Given the description of an element on the screen output the (x, y) to click on. 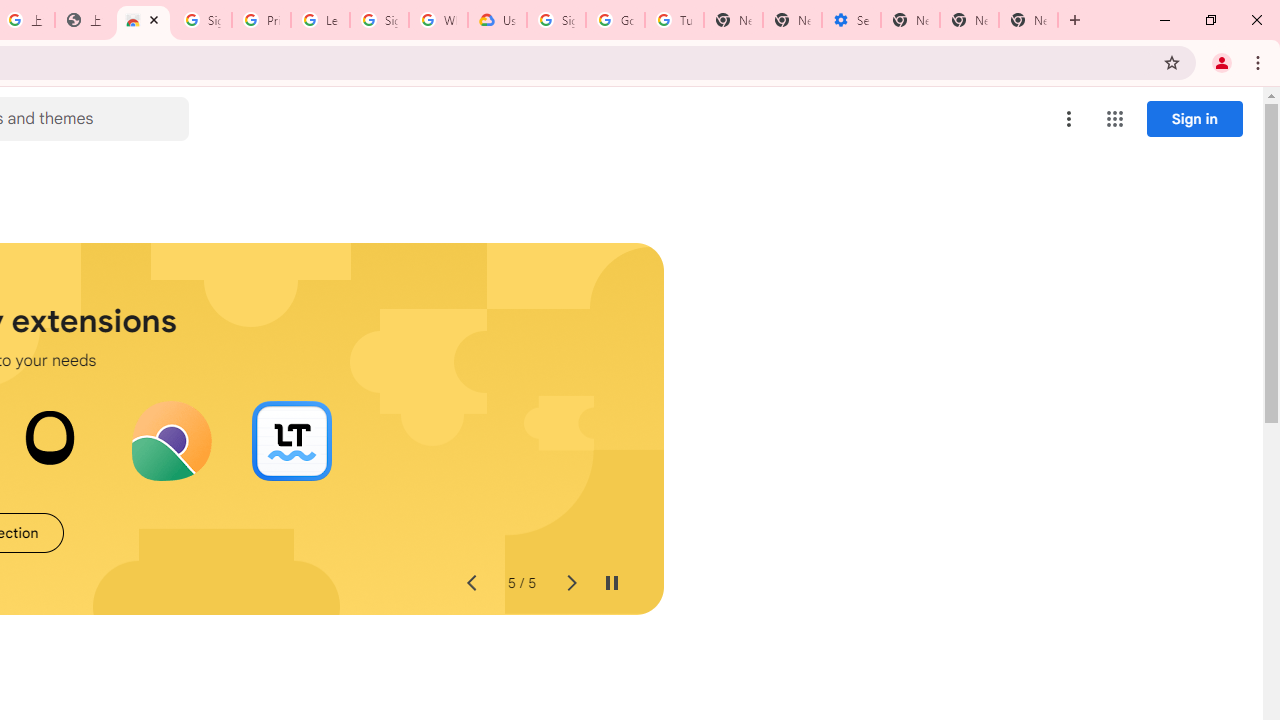
Chrome (1260, 62)
Pause auto-play (611, 583)
Settings - Addresses and more (850, 20)
You (1221, 62)
Google Account Help (615, 20)
Next slide (570, 583)
New Tab (909, 20)
Sign in (1194, 118)
More options menu (1069, 118)
Bookmark this tab (1171, 62)
